Given the description of an element on the screen output the (x, y) to click on. 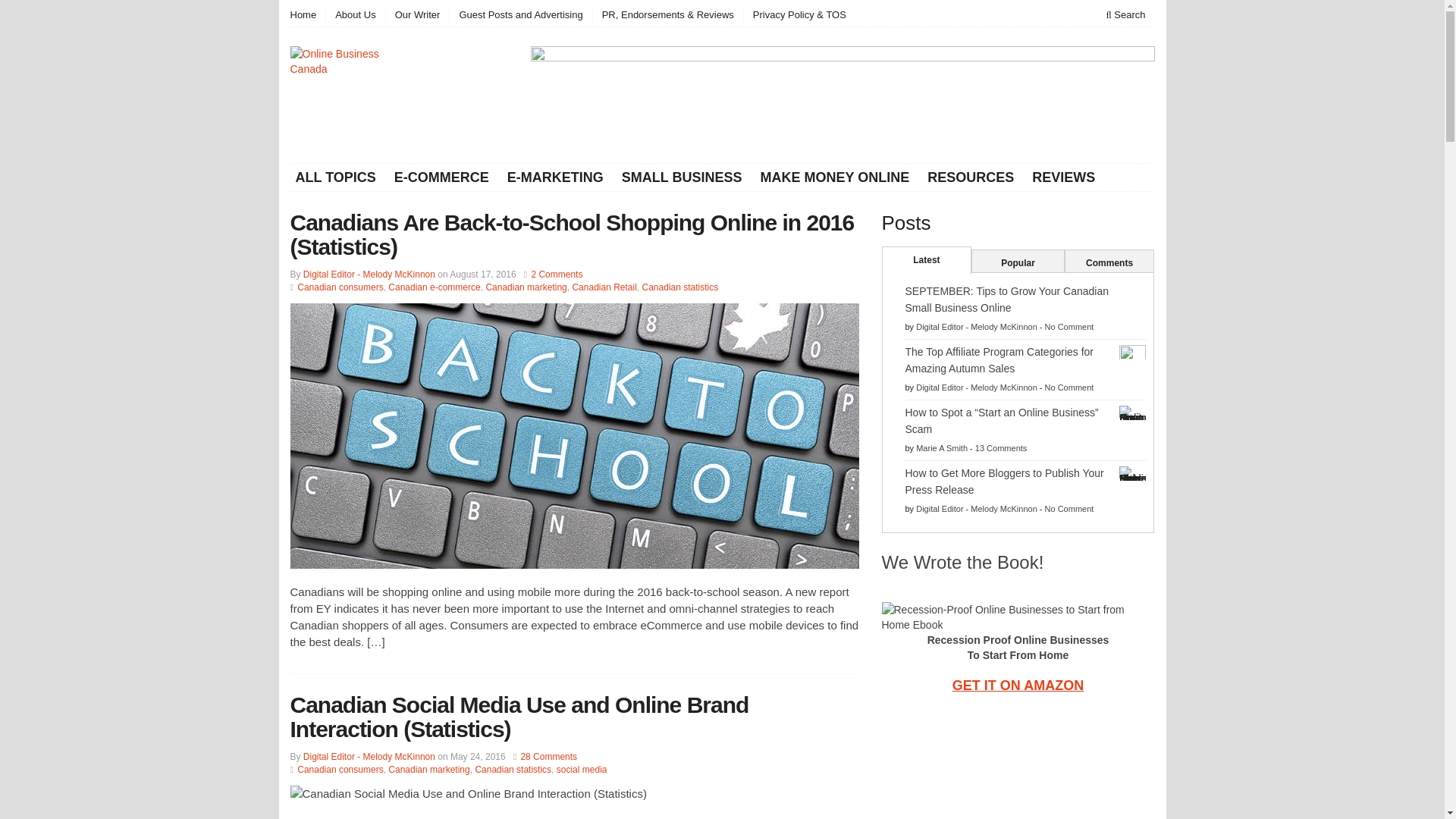
About Us (354, 14)
Guest Posts and Advertising (519, 14)
Social Media Use in Canada (574, 802)
Our Writer (417, 14)
Online Business Canada (337, 94)
Home (306, 14)
Search (1125, 14)
E-COMMERCE (441, 177)
ALL TOPICS (336, 177)
